Given the description of an element on the screen output the (x, y) to click on. 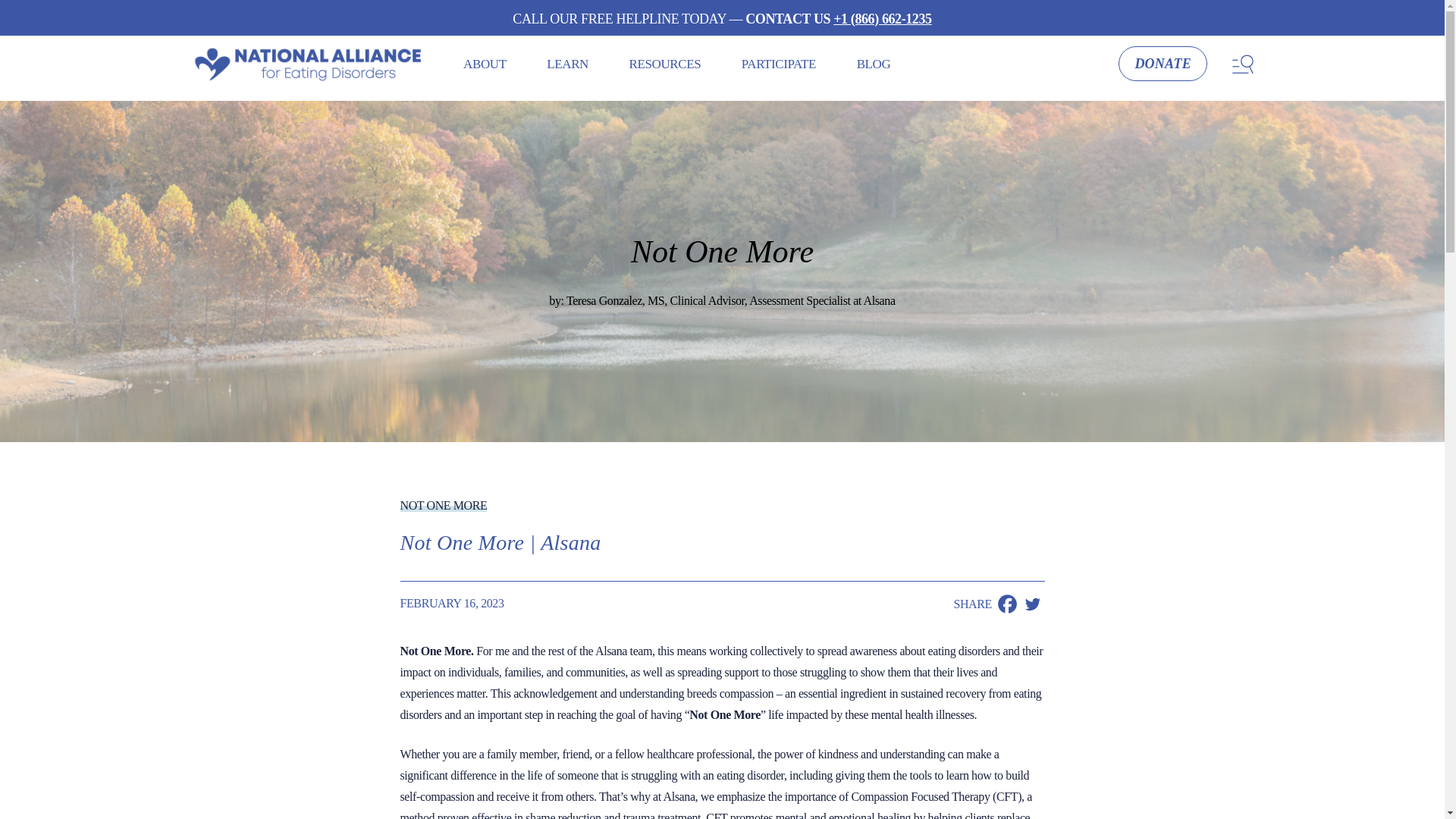
DONATE (1162, 63)
Twitter (1031, 603)
Facebook (1007, 603)
BLOG (874, 63)
